Given the description of an element on the screen output the (x, y) to click on. 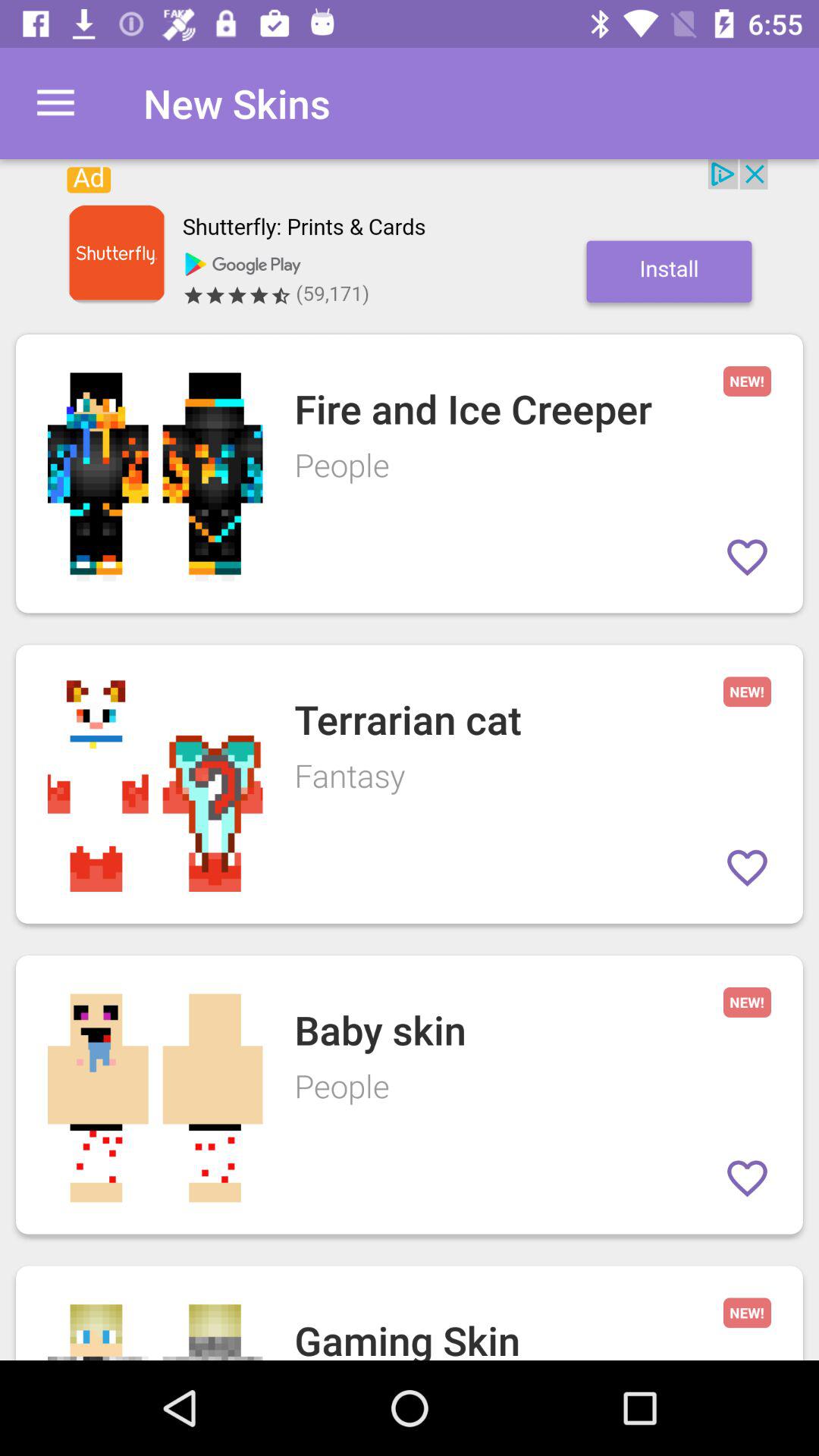
save item to favorites list (747, 557)
